Given the description of an element on the screen output the (x, y) to click on. 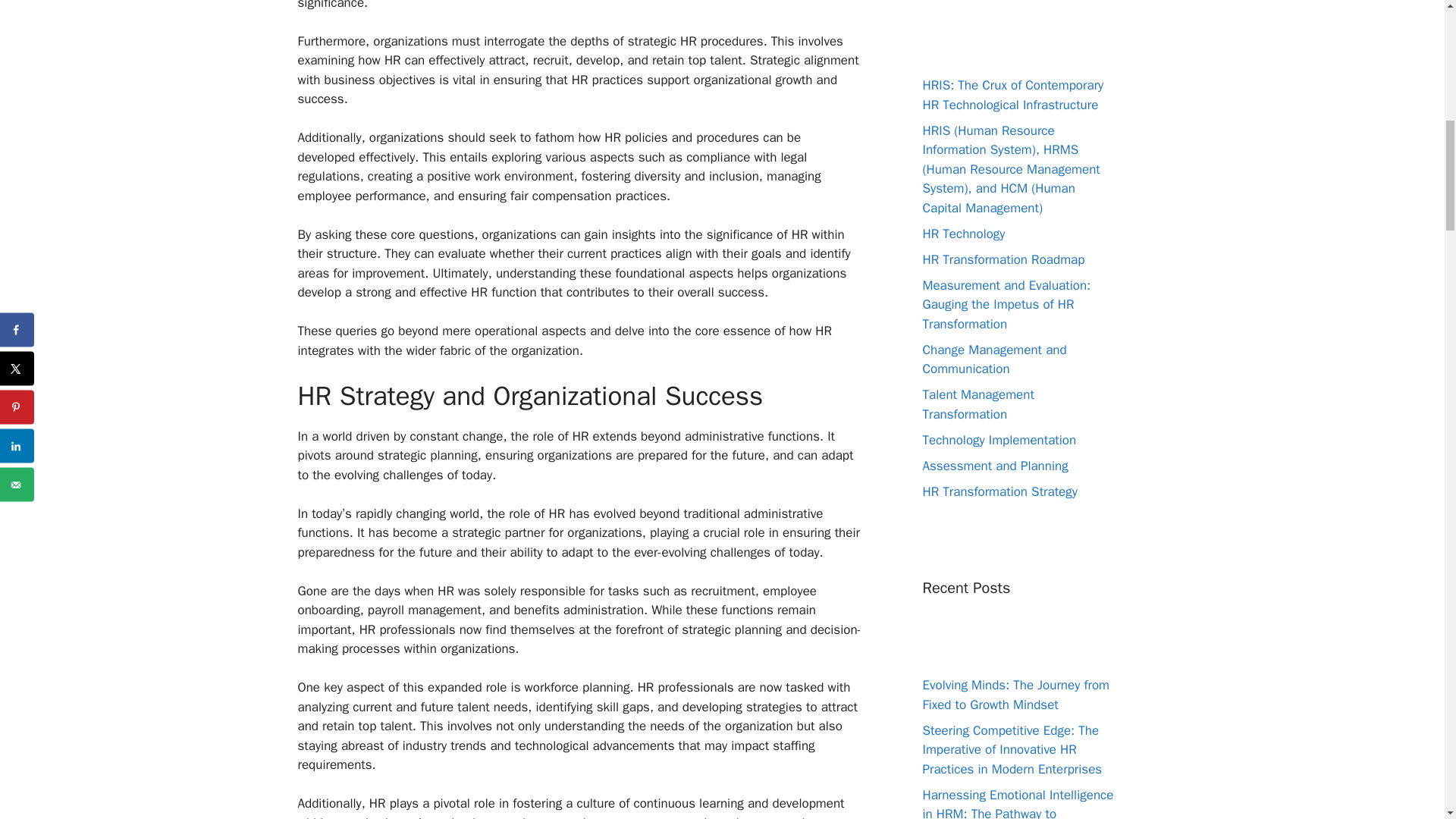
Technology Implementation (998, 439)
Evolving Minds: The Journey from Fixed to Growth Mindset (1015, 694)
Change Management and Communication (993, 358)
Talent Management Transformation (977, 404)
Assessment and Planning (994, 465)
HR Transformation Strategy (999, 491)
HR Transformation Roadmap (1002, 259)
HR Technology (962, 233)
